Given the description of an element on the screen output the (x, y) to click on. 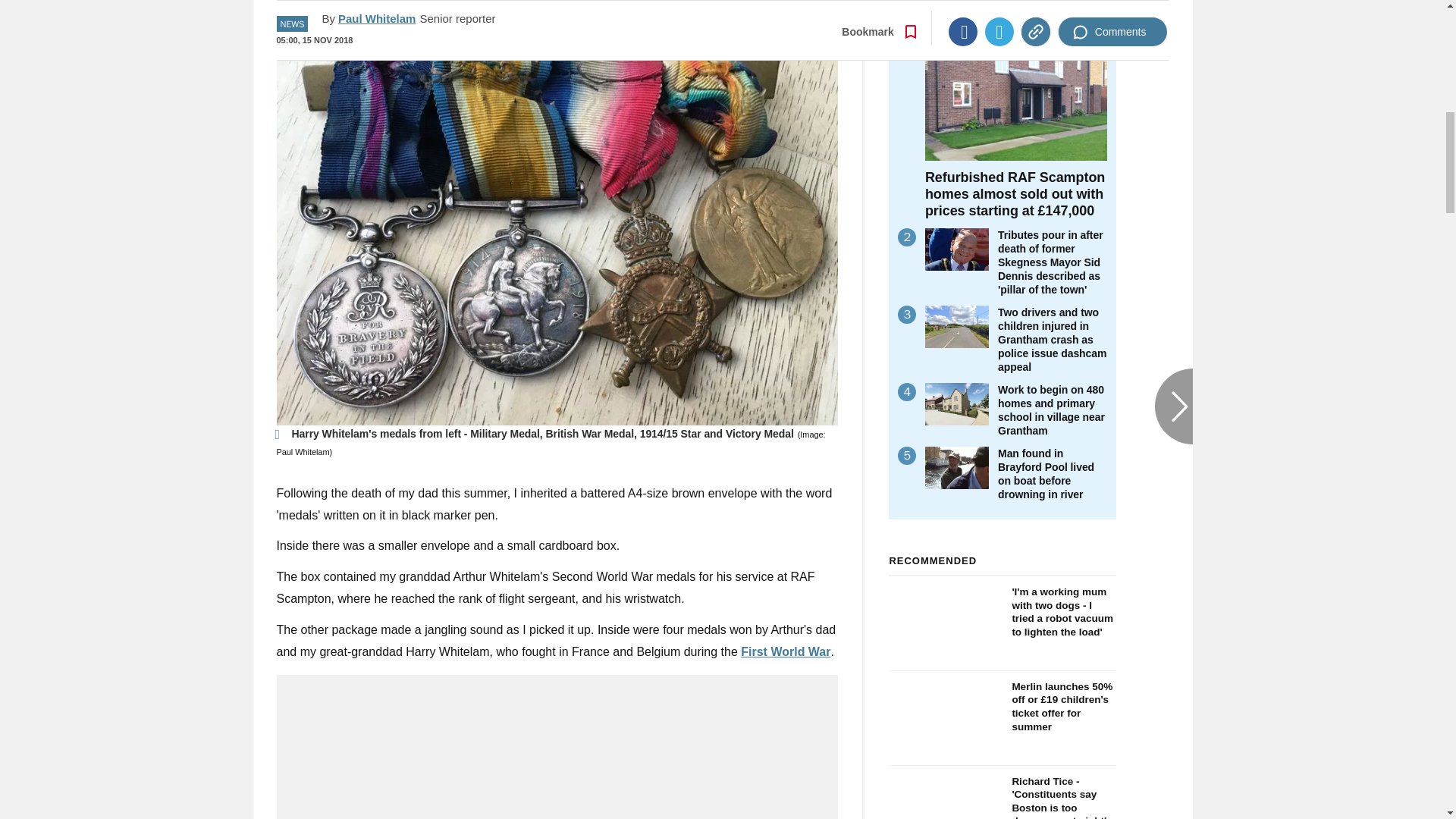
Go (730, 17)
